Given the description of an element on the screen output the (x, y) to click on. 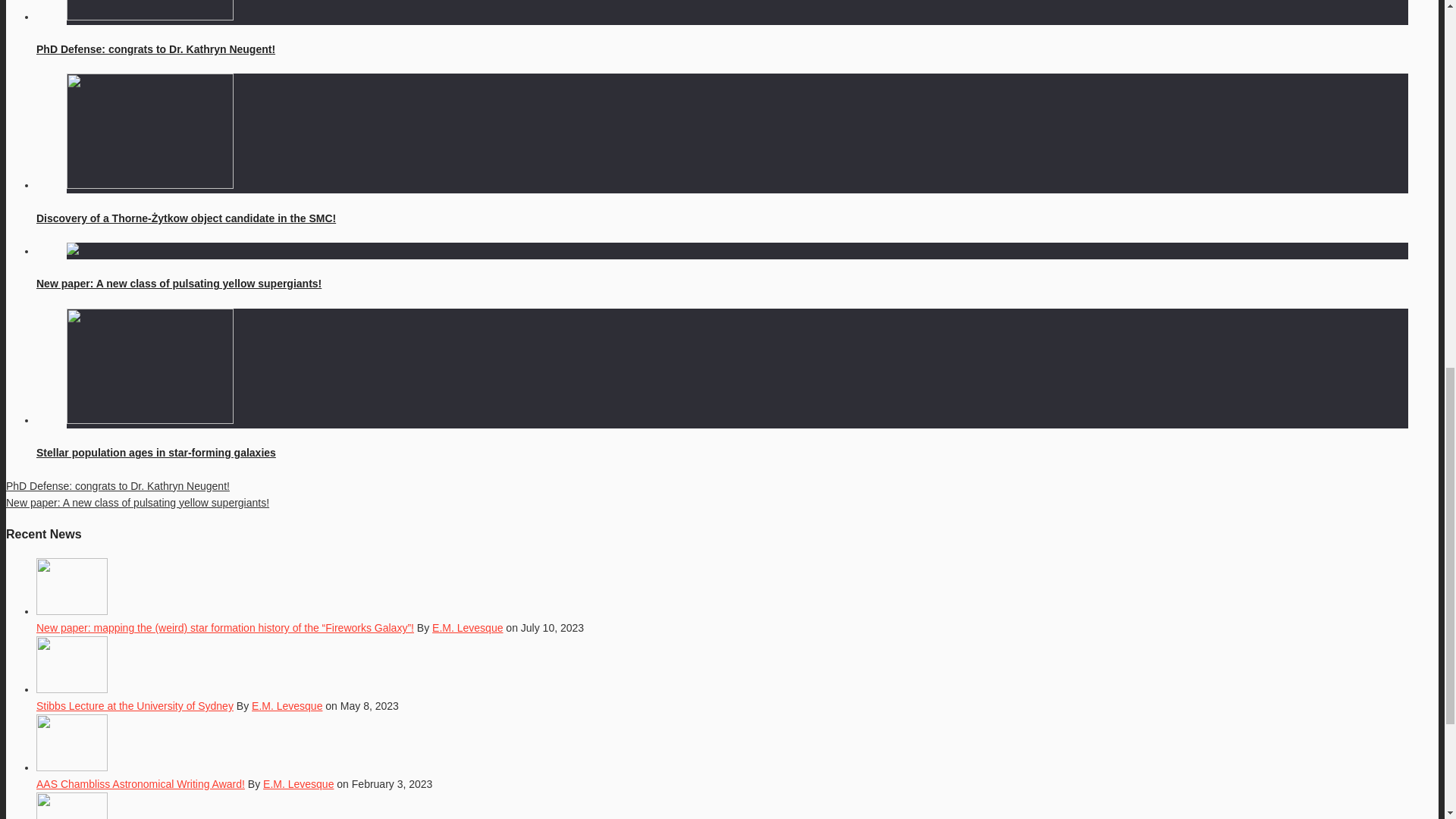
New paper: A new class of pulsating yellow supergiants! (137, 502)
AAS Chambliss Astronomical Writing Award! (140, 784)
Stibbs Lecture at the University of Sydney (134, 705)
Stellar population ages in star-forming galaxies (156, 452)
New paper: A new class of pulsating yellow supergiants! (178, 283)
PhD Defense: congrats to Dr. Kathryn Neugent! (117, 485)
PhD Defense: congrats to Dr. Kathryn Neugent! (155, 49)
